Given the description of an element on the screen output the (x, y) to click on. 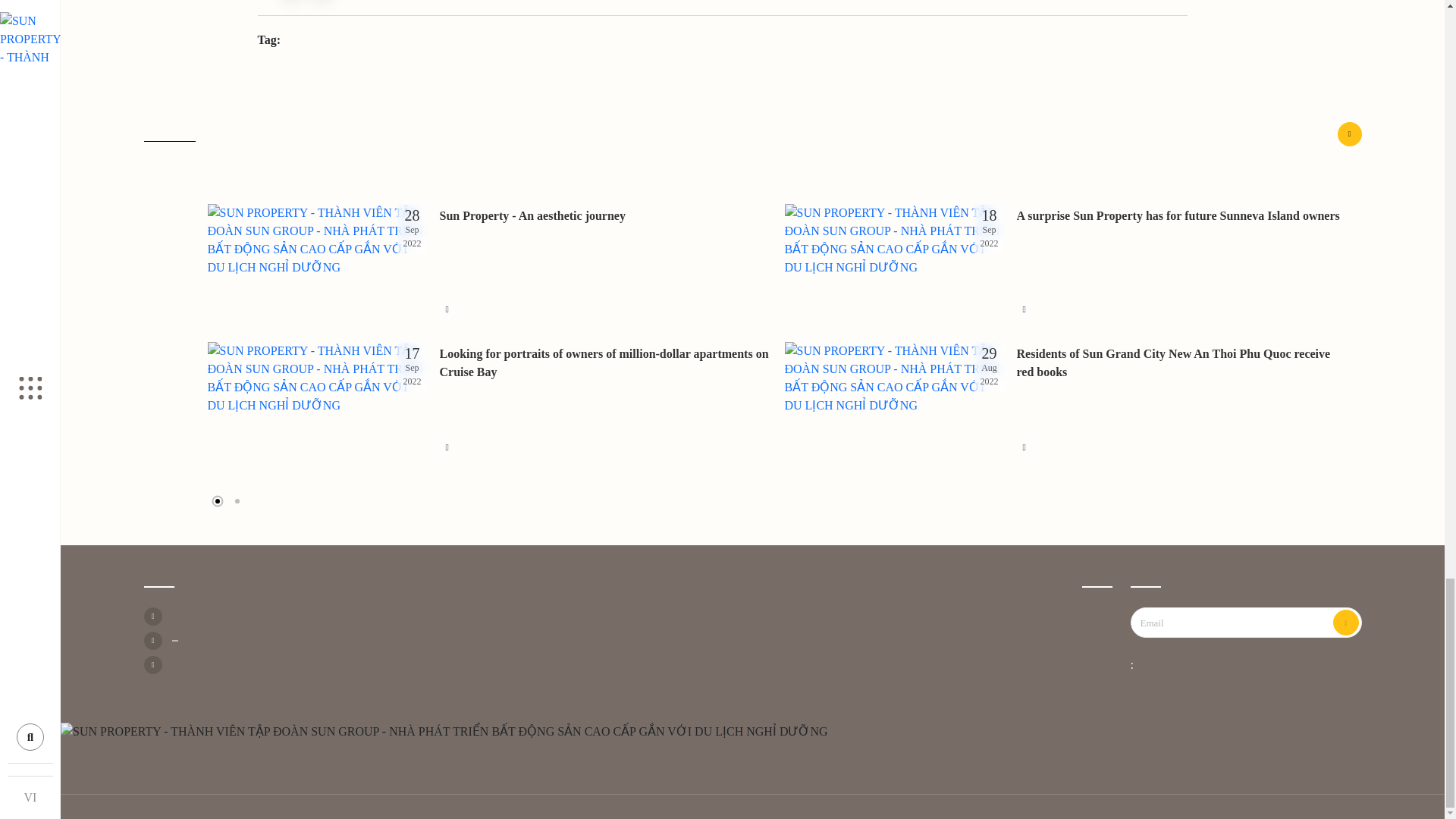
A surprise Sun Property has for future Sunneva Island owners (1182, 216)
Sun Property - An aesthetic journey (606, 216)
